Given the description of an element on the screen output the (x, y) to click on. 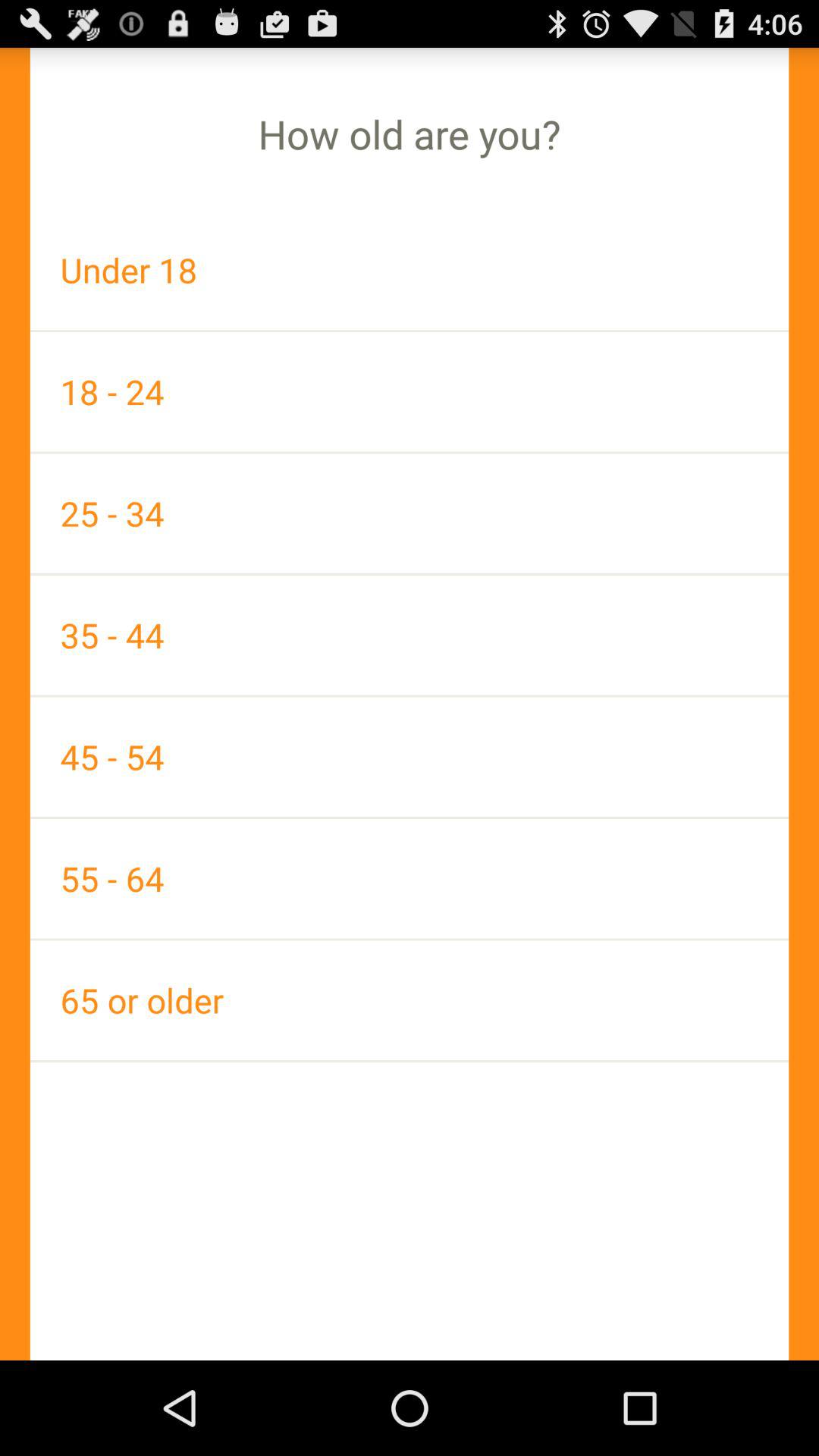
scroll to 45 - 54 (409, 756)
